Given the description of an element on the screen output the (x, y) to click on. 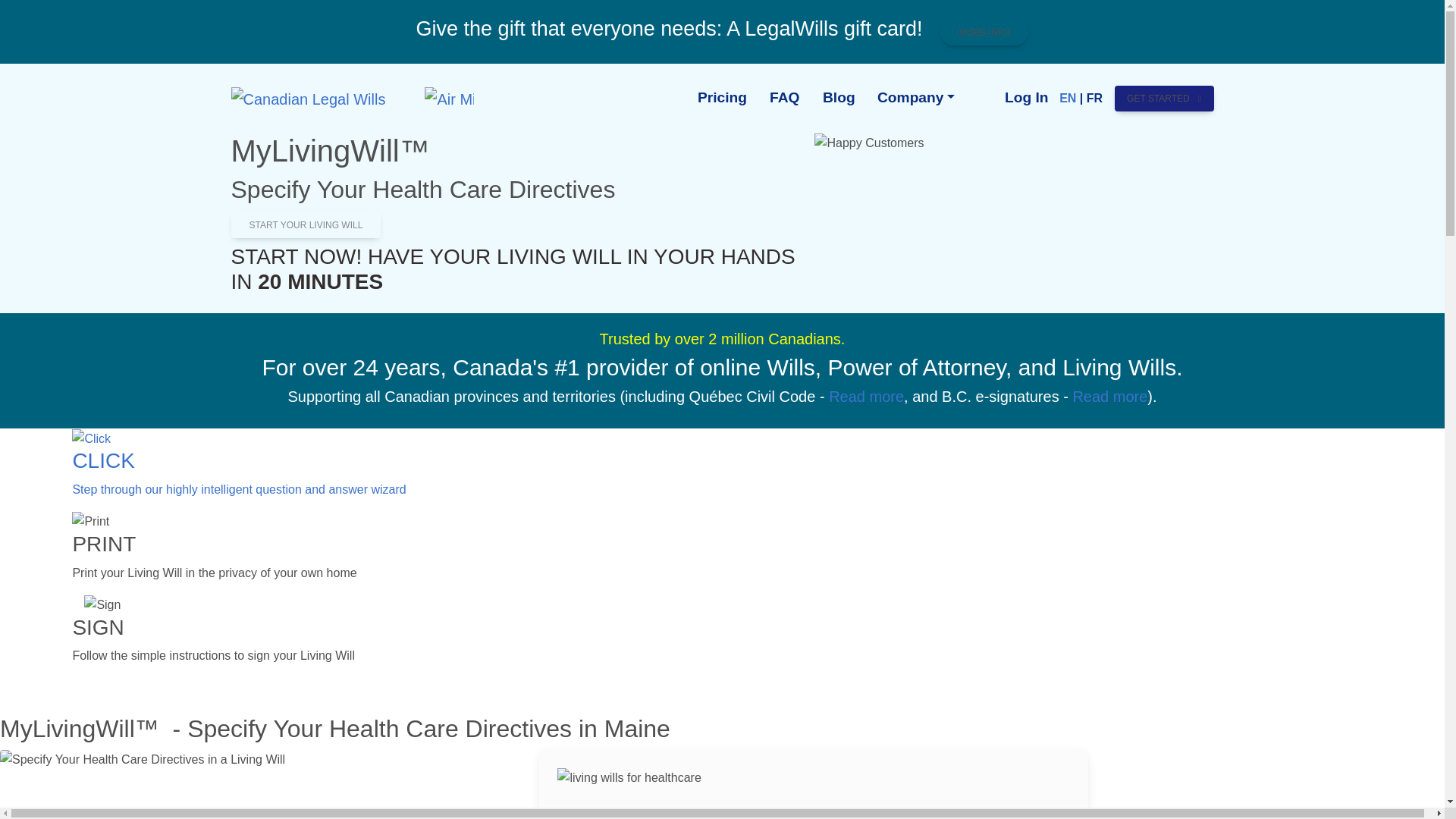
FR (1094, 97)
LegalWills.ca Air Miles Offer (432, 98)
Company (916, 97)
GET STARTED (1163, 98)
LegalWills.ca Home Page (309, 98)
Member Login (1026, 97)
Pricing (721, 97)
MORE INFO (983, 31)
Read more (866, 396)
Start to write your Living Will now (305, 224)
Log In (1026, 97)
Try It Right Now (600, 814)
Start Your Living Will (305, 224)
Prices (721, 97)
LegalWills.ca Home Page (307, 98)
